Given the description of an element on the screen output the (x, y) to click on. 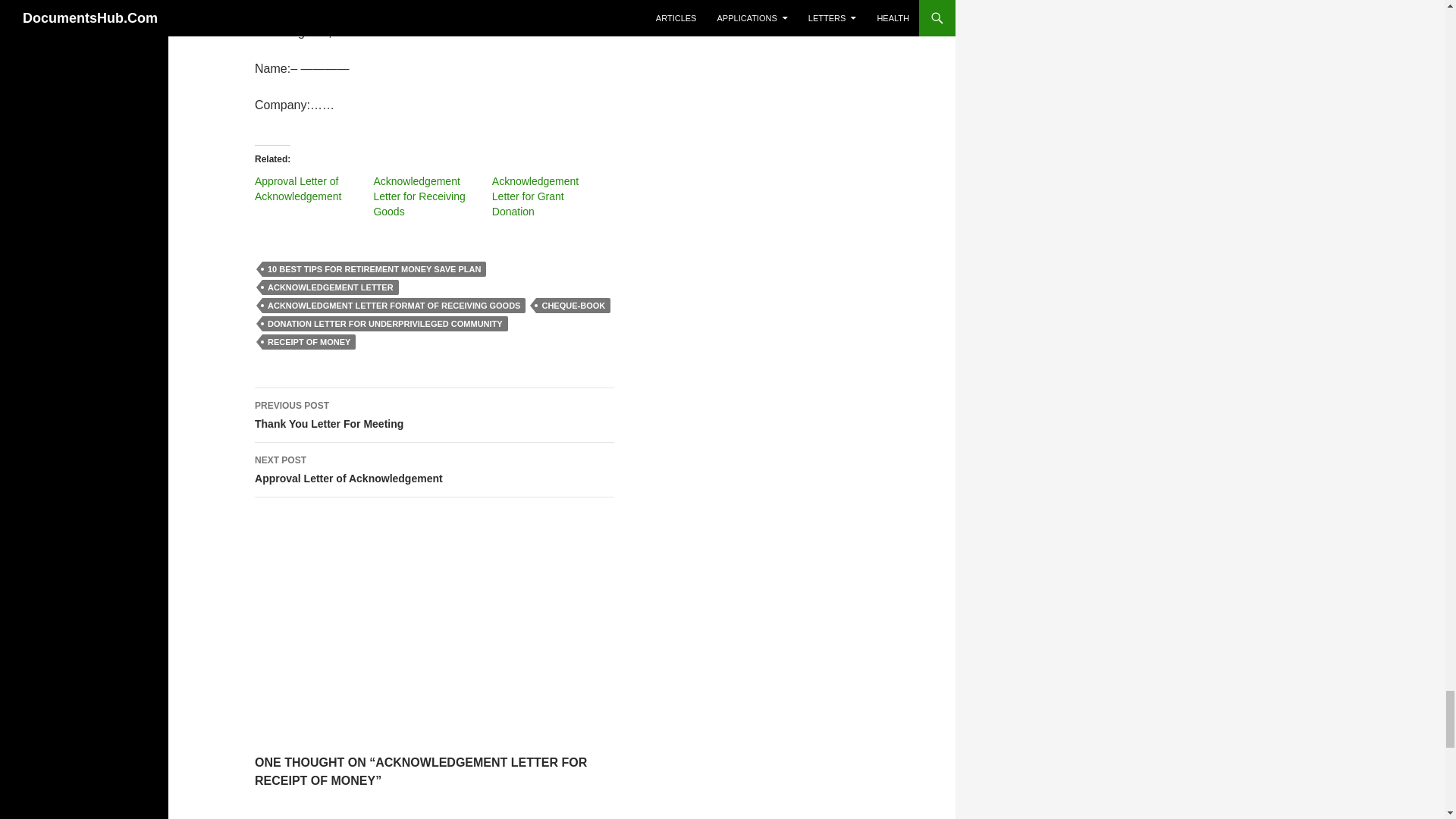
Acknowledgement Letter for Receiving Goods (418, 196)
Approval Letter of Acknowledgement (297, 188)
ACKNOWLEDGEMENT LETTER (330, 287)
ACKNOWLEDGMENT LETTER FORMAT OF RECEIVING GOODS (393, 305)
Approval Letter of Acknowledgement (297, 188)
RECEIPT OF MONEY (308, 341)
Acknowledgement Letter for Grant Donation (434, 415)
10 BEST TIPS FOR RETIREMENT MONEY SAVE PLAN (535, 196)
Acknowledgement Letter for Grant Donation (374, 268)
CHEQUE-BOOK (535, 196)
Acknowledgement Letter for Receiving Goods (572, 305)
DONATION LETTER FOR UNDERPRIVILEGED COMMUNITY (418, 196)
